Given the description of an element on the screen output the (x, y) to click on. 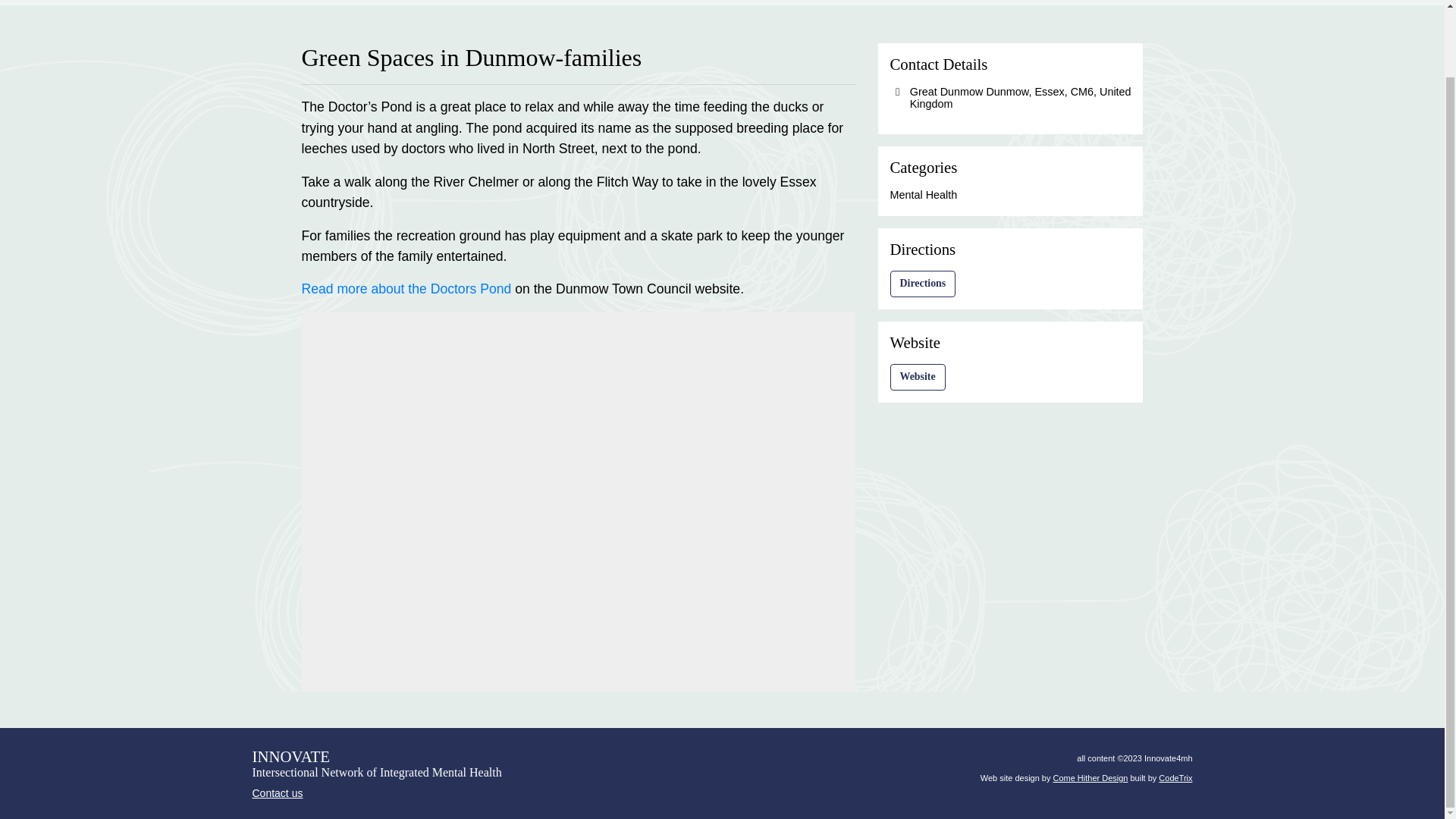
Come Hither Design (1090, 777)
Read more about the Doctors Pond (406, 288)
CodeTrix (1175, 777)
Directions (922, 284)
Contact us (375, 793)
Website (916, 376)
